Given the description of an element on the screen output the (x, y) to click on. 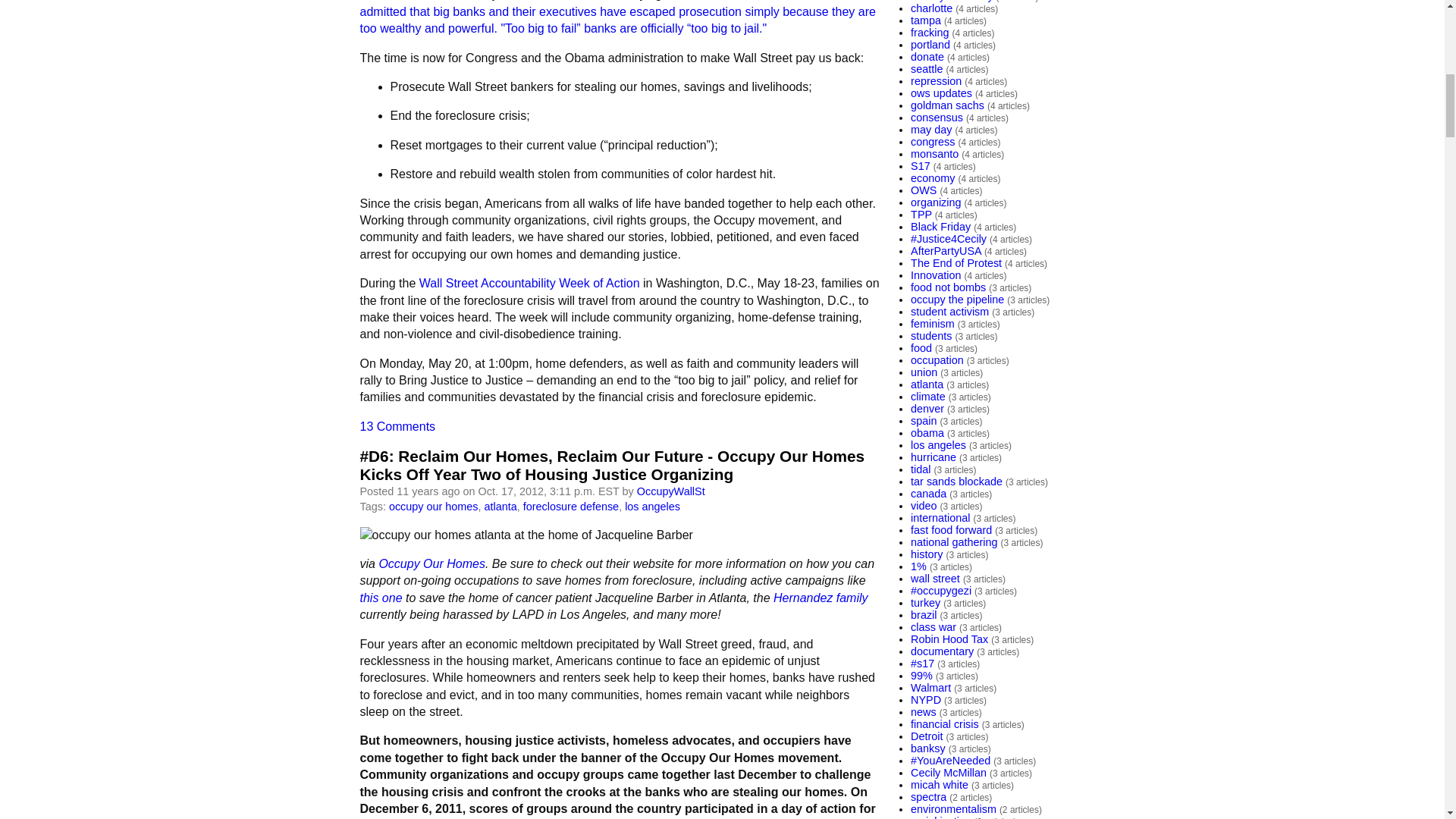
los angeles (651, 506)
atlanta (499, 506)
occupy our homes (433, 506)
13 Comments (397, 426)
OccupyWallSt (670, 491)
Wall Street Accountability Week of Action (529, 282)
foreclosure defense (570, 506)
